Given the description of an element on the screen output the (x, y) to click on. 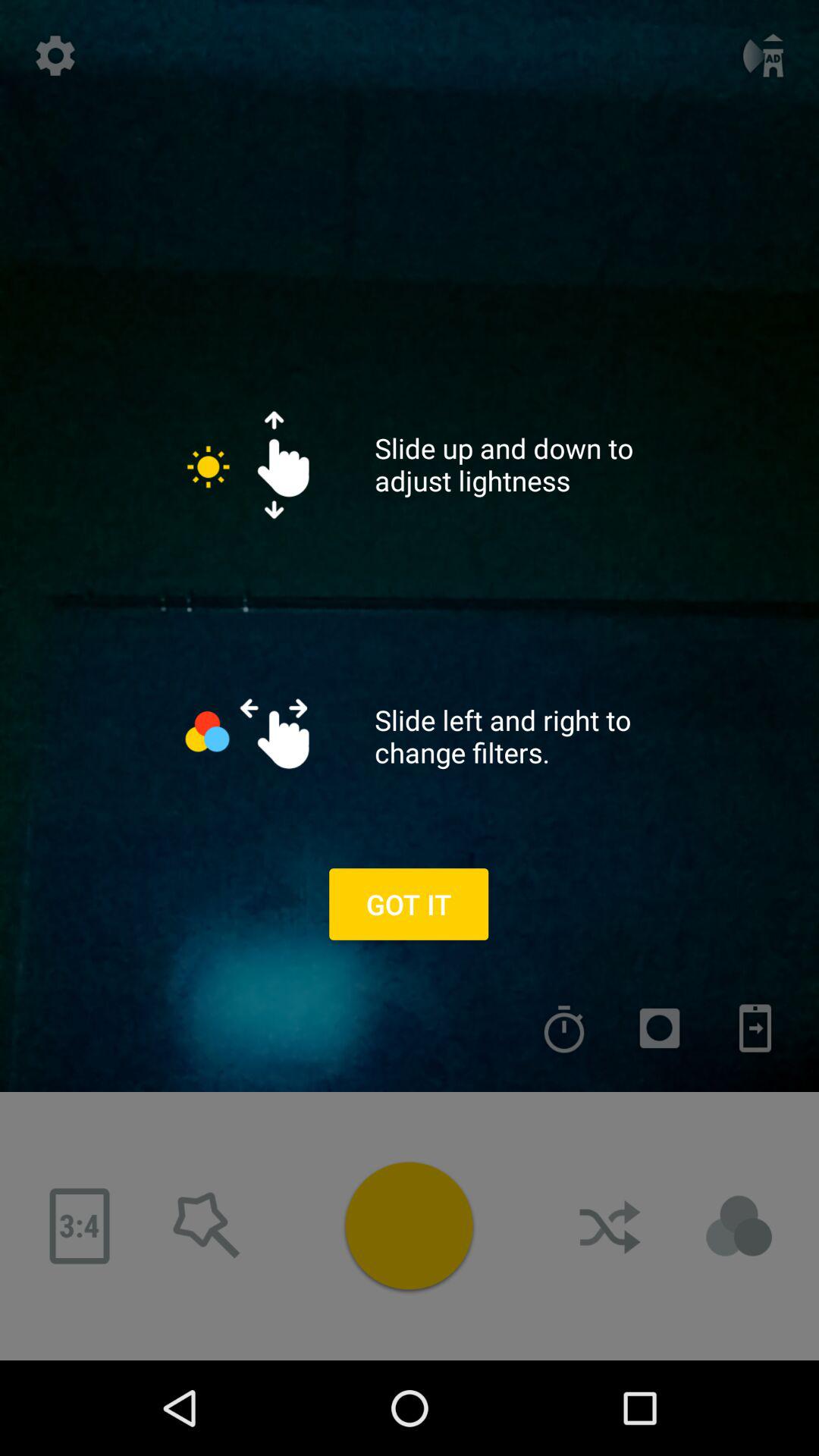
setting button (55, 55)
